Given the description of an element on the screen output the (x, y) to click on. 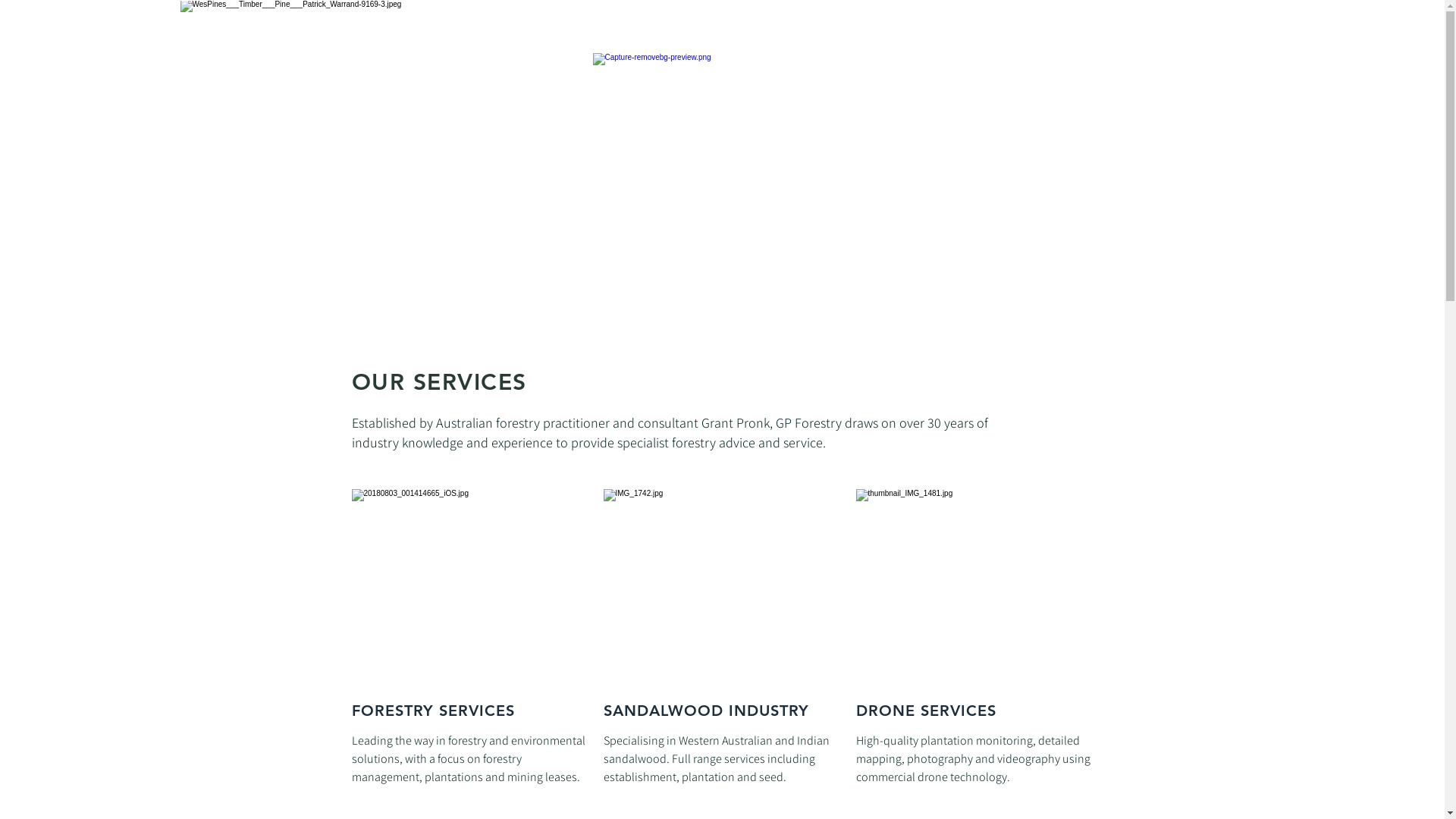
SERVICES Element type: text (845, 39)
PRODUCTS Element type: text (922, 39)
NEWS Element type: text (990, 39)
CONTACT Element type: text (1056, 39)
ABOUT Element type: text (777, 39)
